Given the description of an element on the screen output the (x, y) to click on. 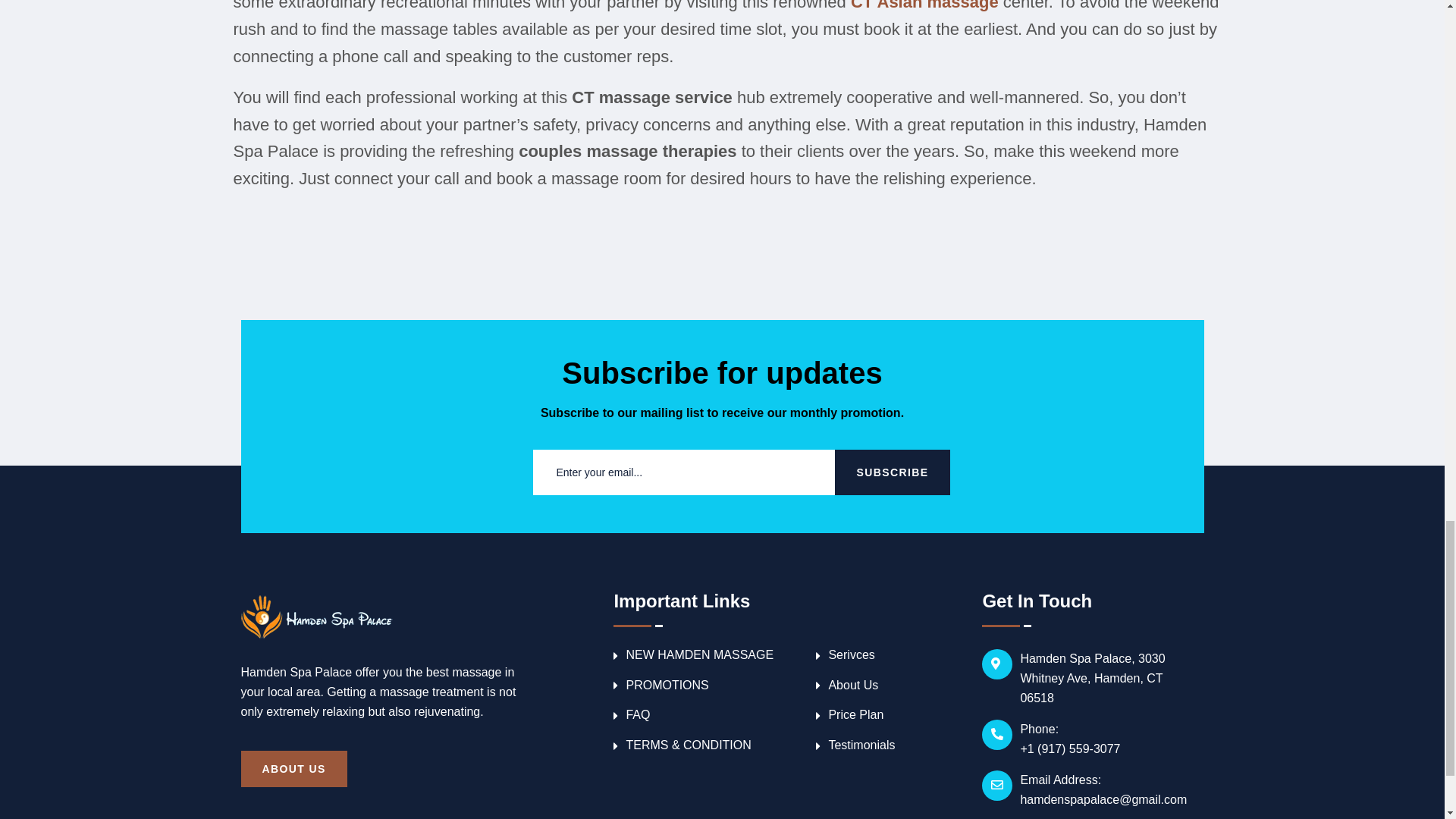
Hamden Massage (317, 616)
